Given the description of an element on the screen output the (x, y) to click on. 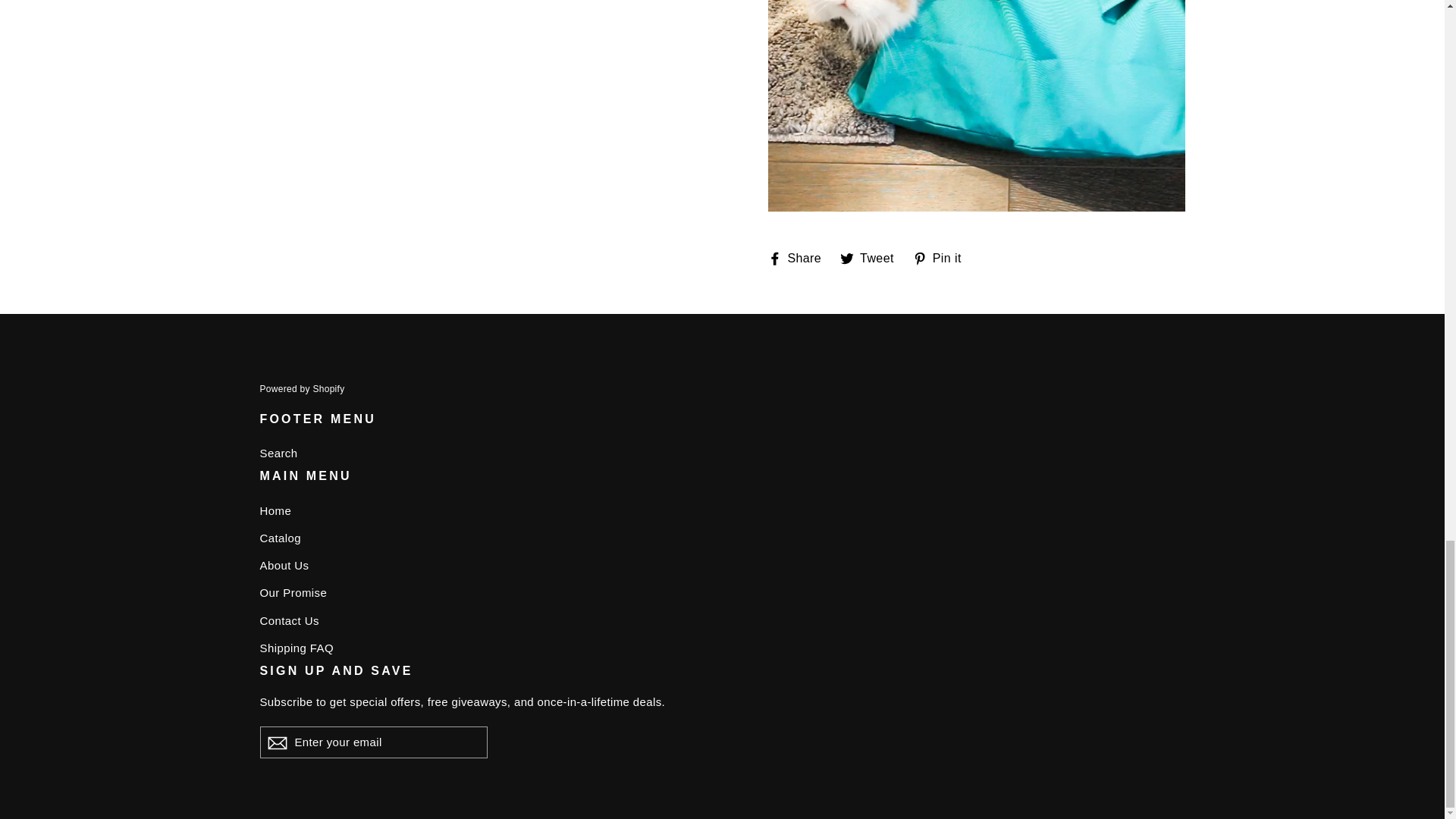
Search (722, 453)
Share on Facebook (799, 258)
Our Promise (722, 592)
Home (722, 510)
Tweet on Twitter (942, 258)
Pin on Pinterest (872, 258)
Contact Us (872, 258)
